Given the description of an element on the screen output the (x, y) to click on. 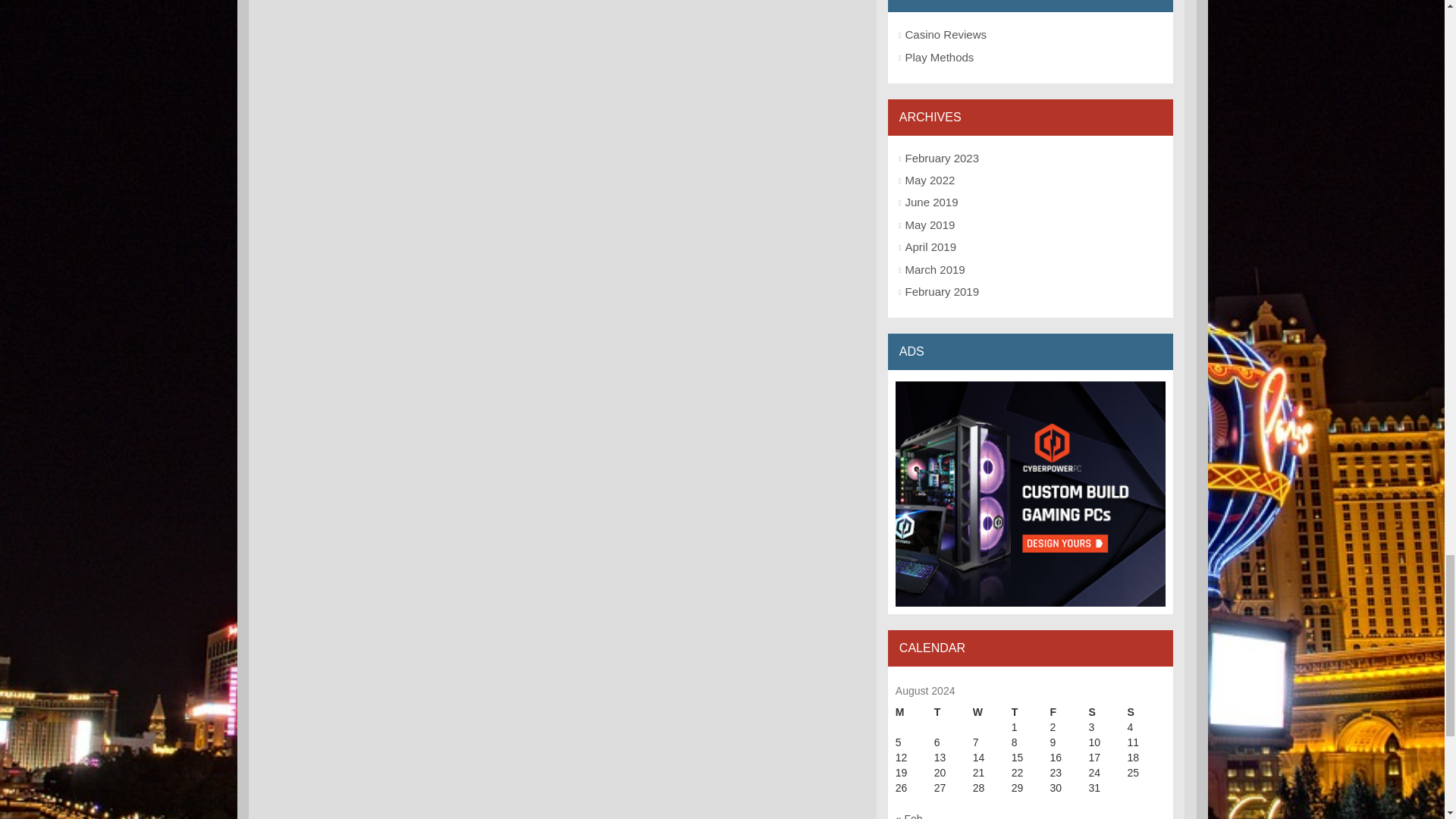
February 2023 (941, 157)
Sunday (1146, 712)
Saturday (1107, 712)
Thursday (1030, 712)
Play Methods (939, 56)
Tuesday (953, 712)
Monday (914, 712)
Wednesday (991, 712)
Friday (1069, 712)
